Given the description of an element on the screen output the (x, y) to click on. 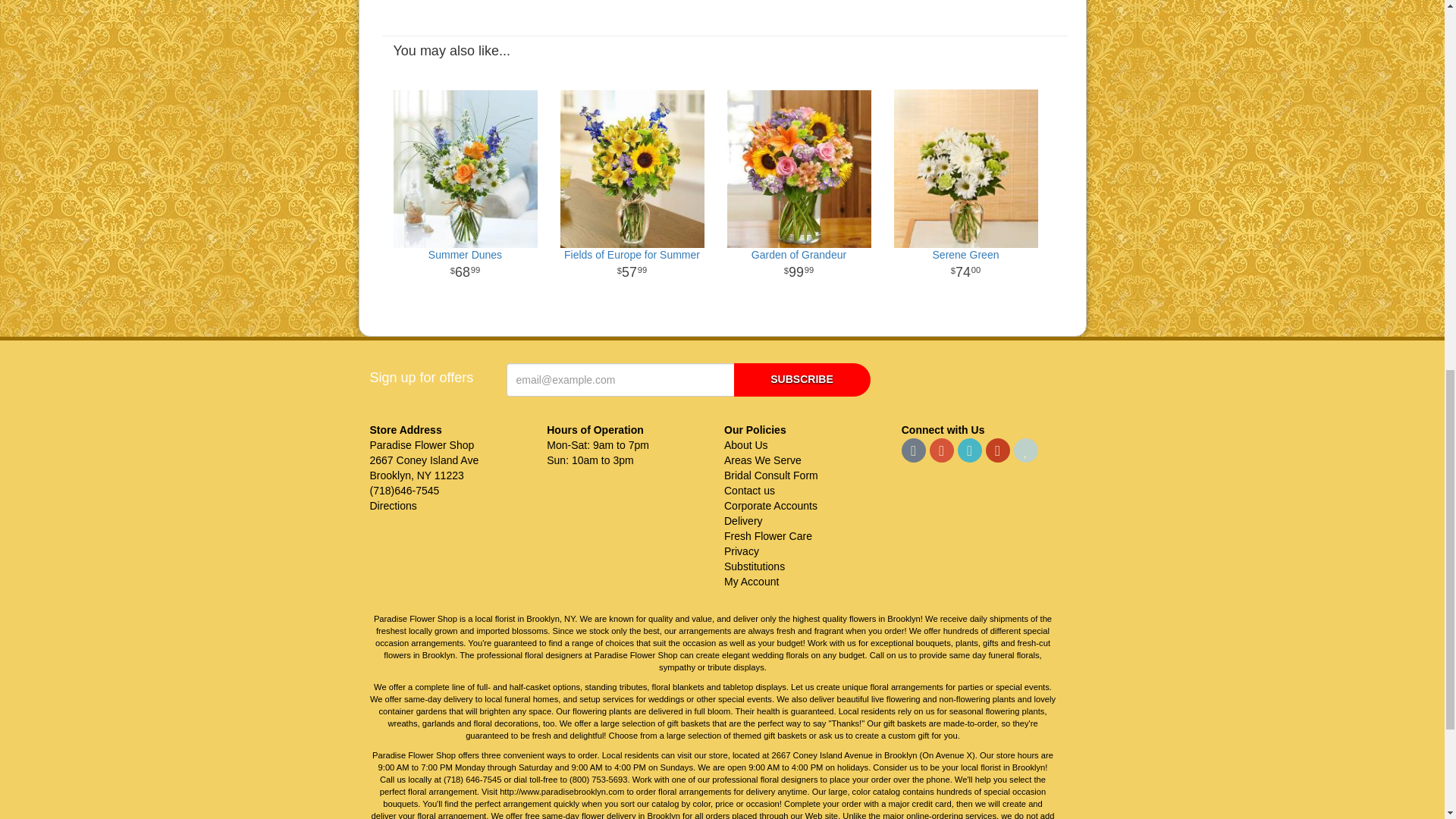
Subscribe (801, 379)
